Given the description of an element on the screen output the (x, y) to click on. 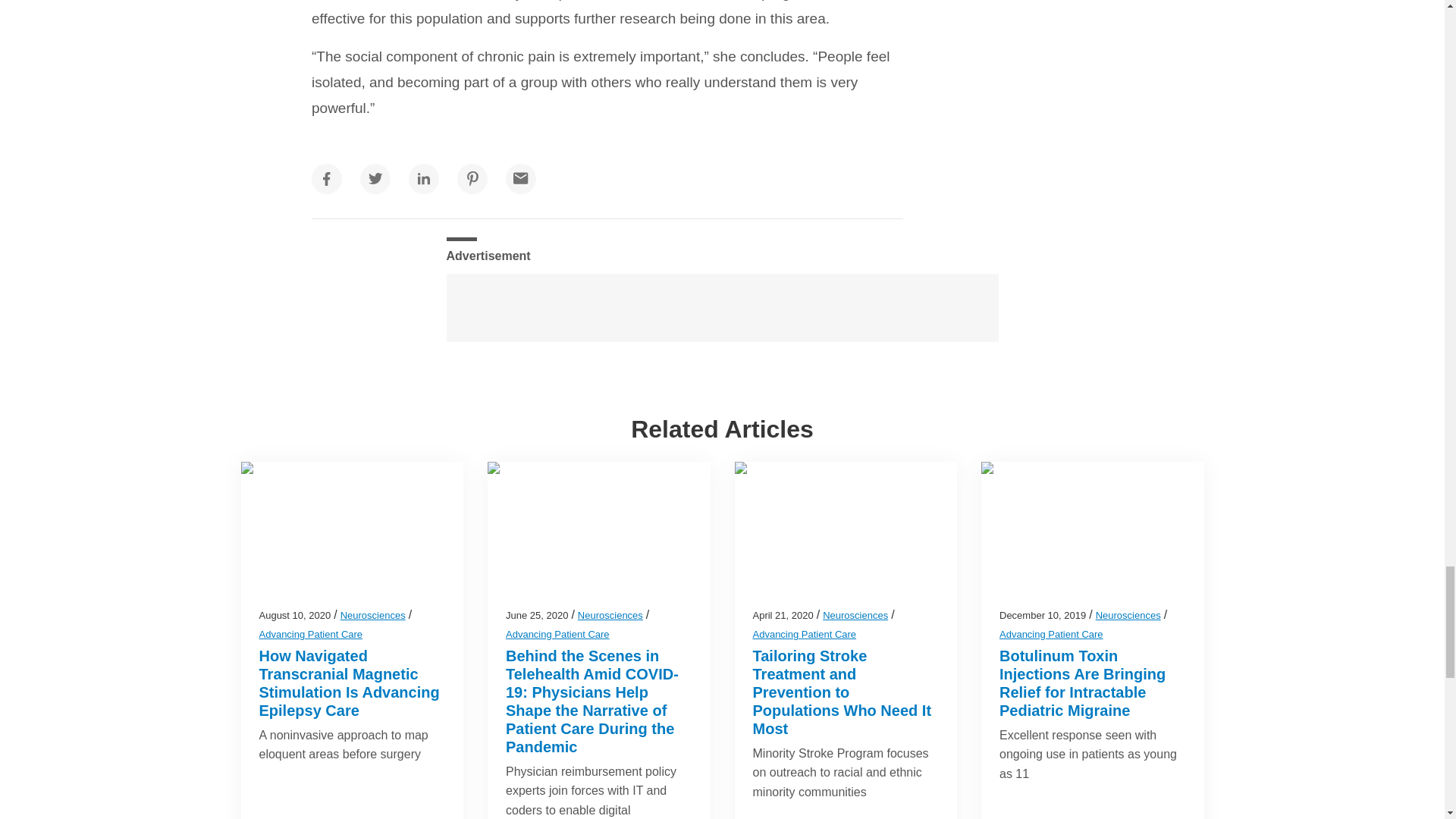
Advancing Patient Care (310, 633)
Neurosciences (610, 614)
Advancing Patient Care (557, 633)
Neurosciences (373, 614)
